Given the description of an element on the screen output the (x, y) to click on. 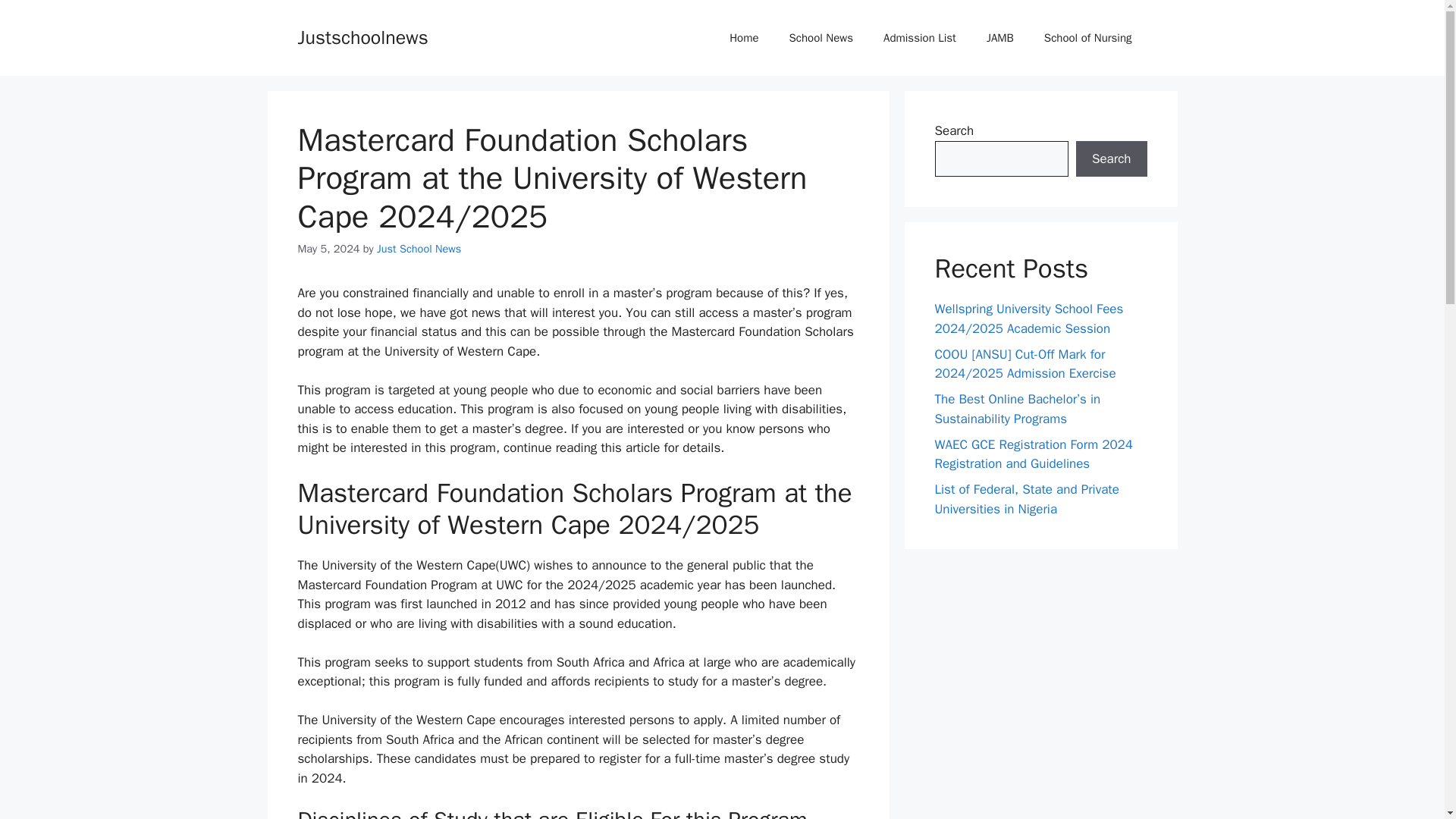
Home (743, 37)
List of Federal, State and Private Universities in Nigeria (1026, 498)
Justschoolnews (362, 37)
Just School News (419, 248)
Admission List (919, 37)
School of Nursing (1088, 37)
Search (1111, 158)
WAEC GCE Registration Form 2024 Registration and Guidelines (1033, 454)
School News (820, 37)
JAMB (1000, 37)
View all posts by Just School News (419, 248)
